Given the description of an element on the screen output the (x, y) to click on. 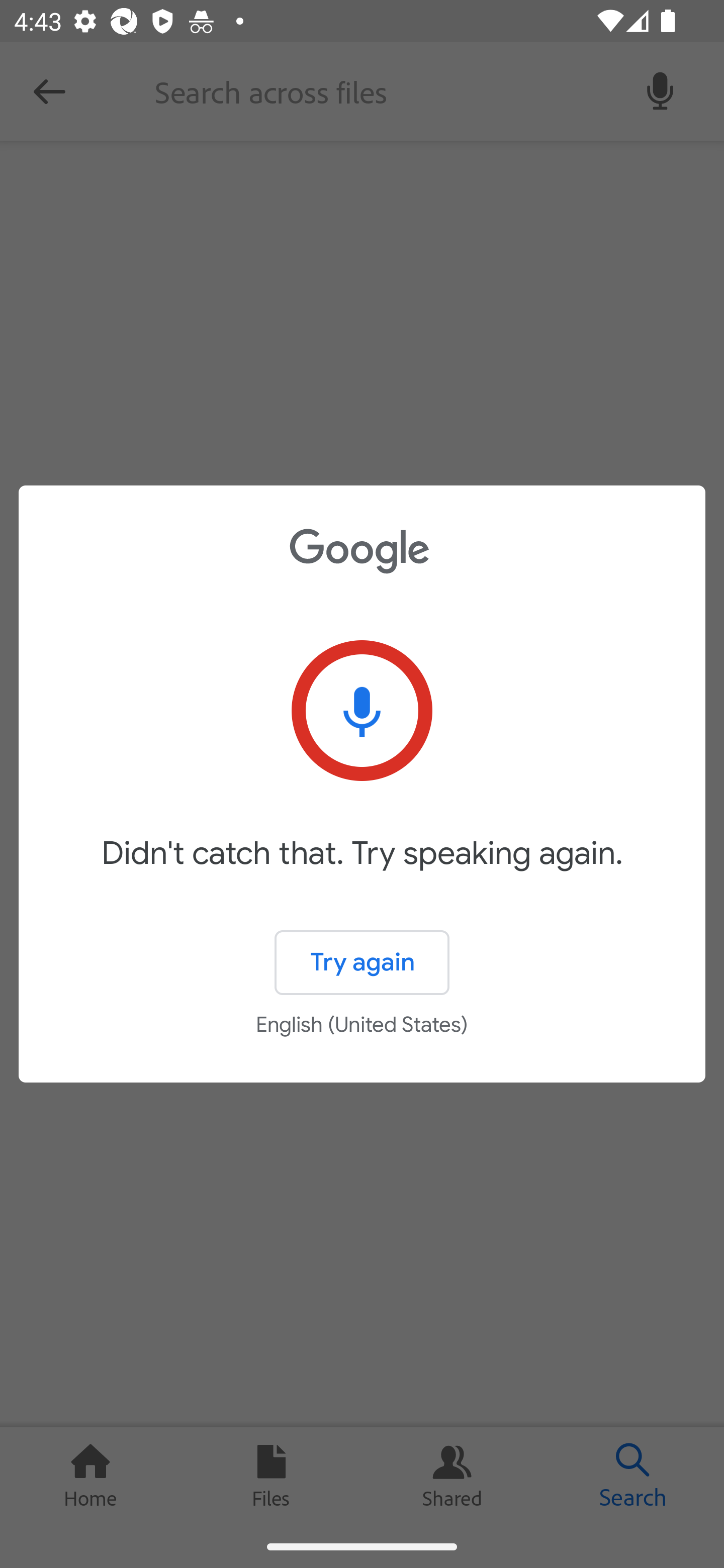
Tap to try again (361, 710)
Try again (361, 962)
